Given the description of an element on the screen output the (x, y) to click on. 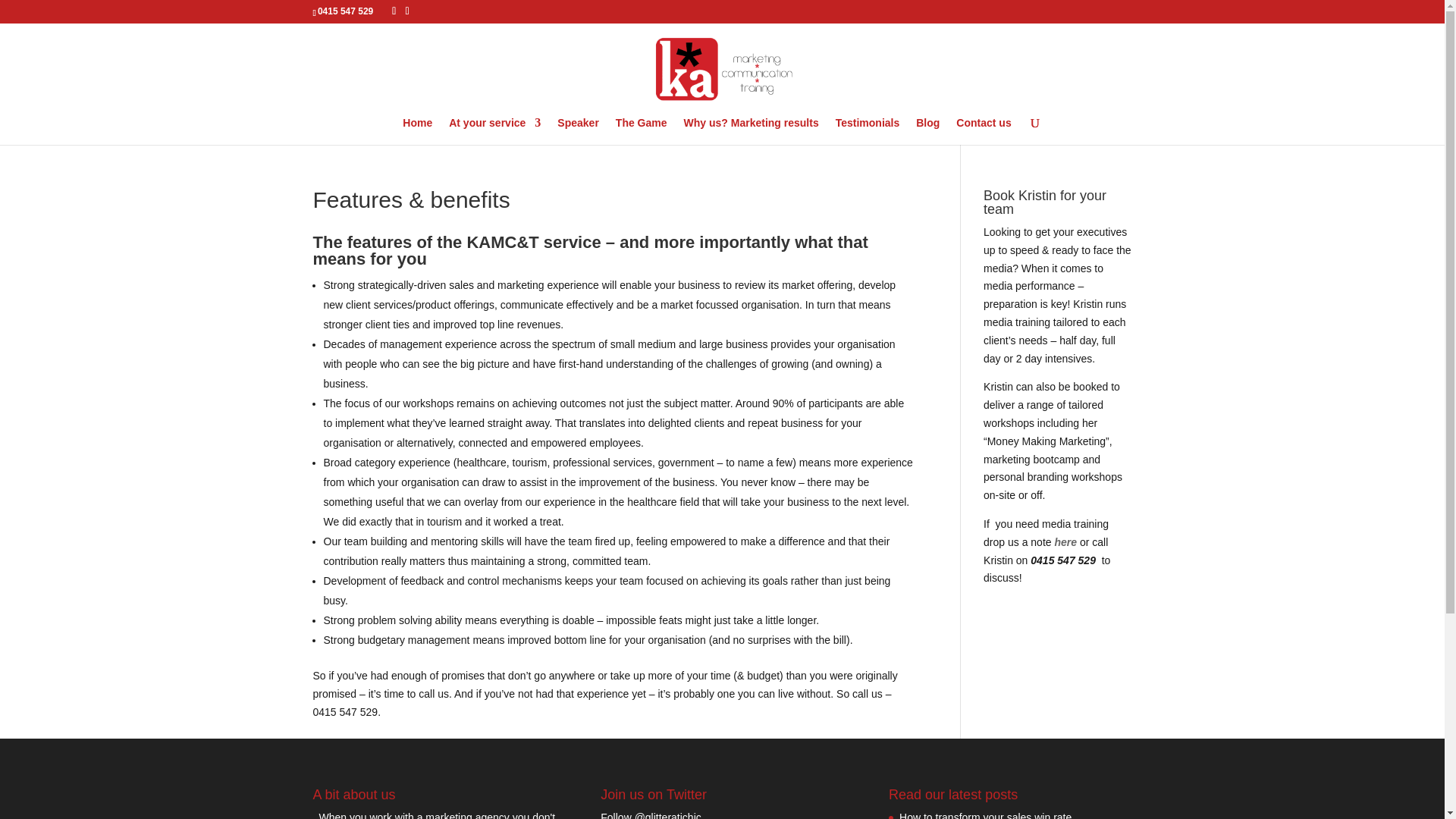
Contact us (983, 130)
At your service (494, 130)
Why us? Marketing results (751, 130)
Home (417, 130)
Testimonials (867, 130)
Speaker (577, 130)
0415 547 529 (344, 10)
The Game (640, 130)
